Given the description of an element on the screen output the (x, y) to click on. 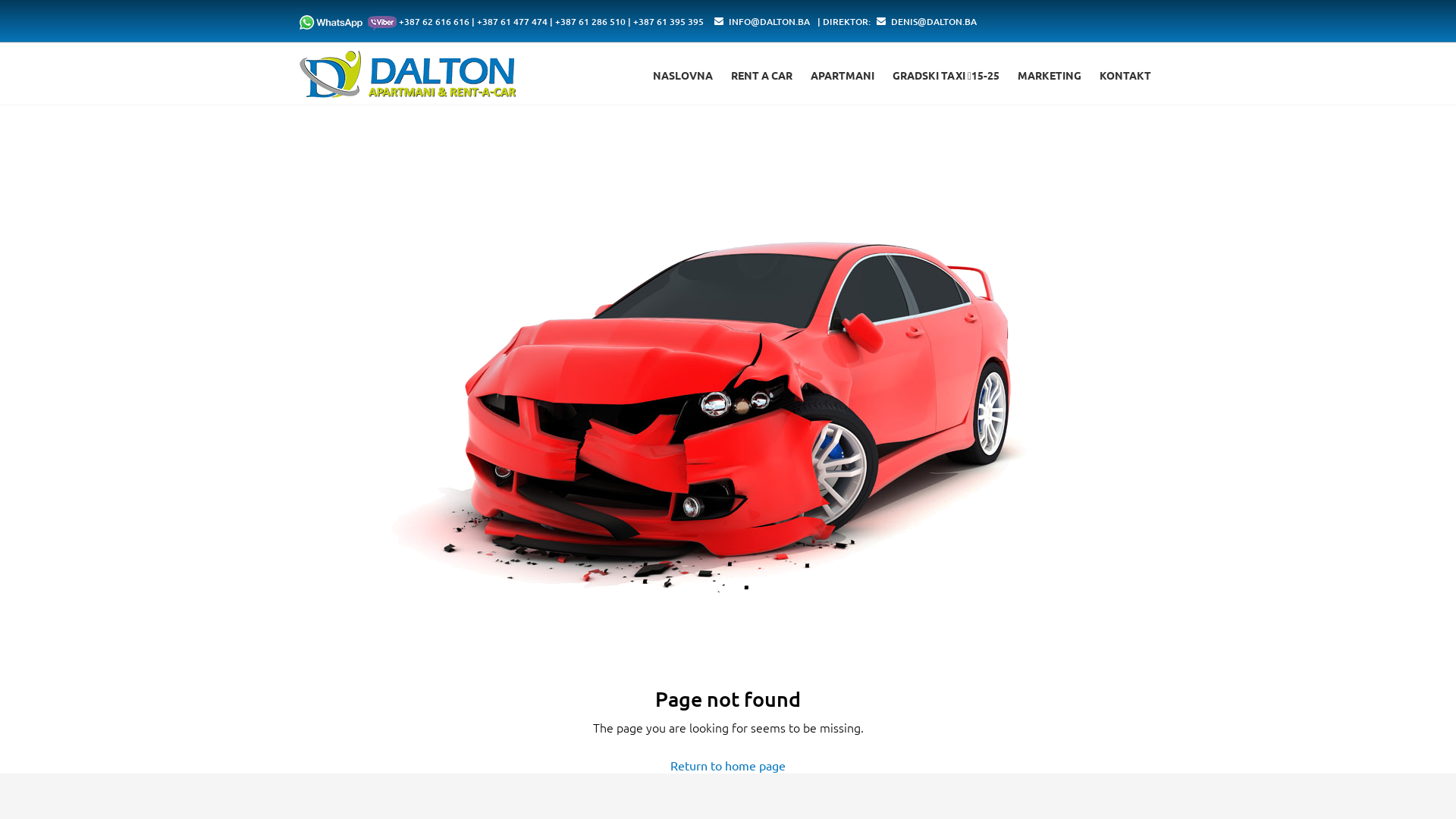
KONTAKT Element type: text (1125, 74)
APARTMANI Element type: text (842, 74)
DENIS@DALTON.BA Element type: text (933, 21)
Return to home page Element type: text (727, 764)
+387 61 286 510 Element type: text (590, 21)
INFO@DALTON.BA Element type: text (768, 21)
RENT A CAR Element type: text (761, 74)
NASLOVNA Element type: text (682, 74)
+387 61 395 395 Element type: text (668, 21)
+387 61 477 474 Element type: text (511, 21)
+387 62 616 616 Element type: text (433, 21)
MARKETING Element type: text (1049, 74)
